Given the description of an element on the screen output the (x, y) to click on. 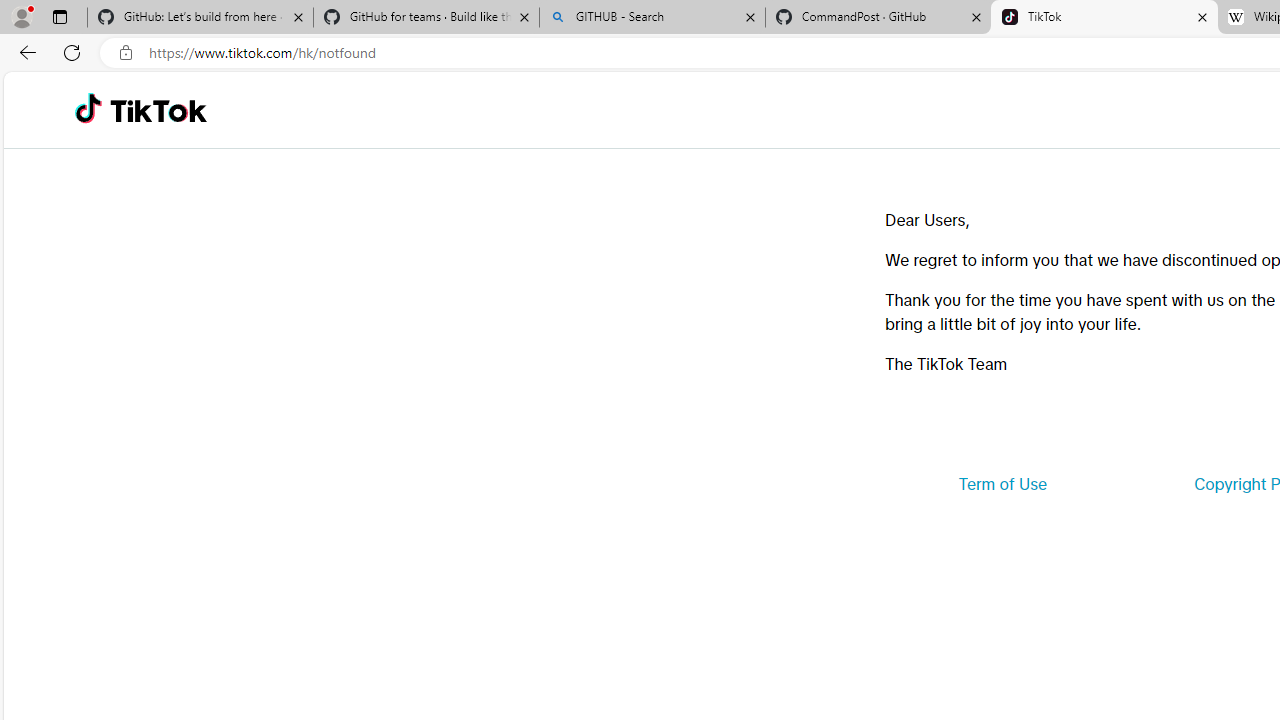
TikTok (158, 110)
GITHUB - Search (652, 17)
Term of Use (1002, 484)
TikTok (1104, 17)
